Given the description of an element on the screen output the (x, y) to click on. 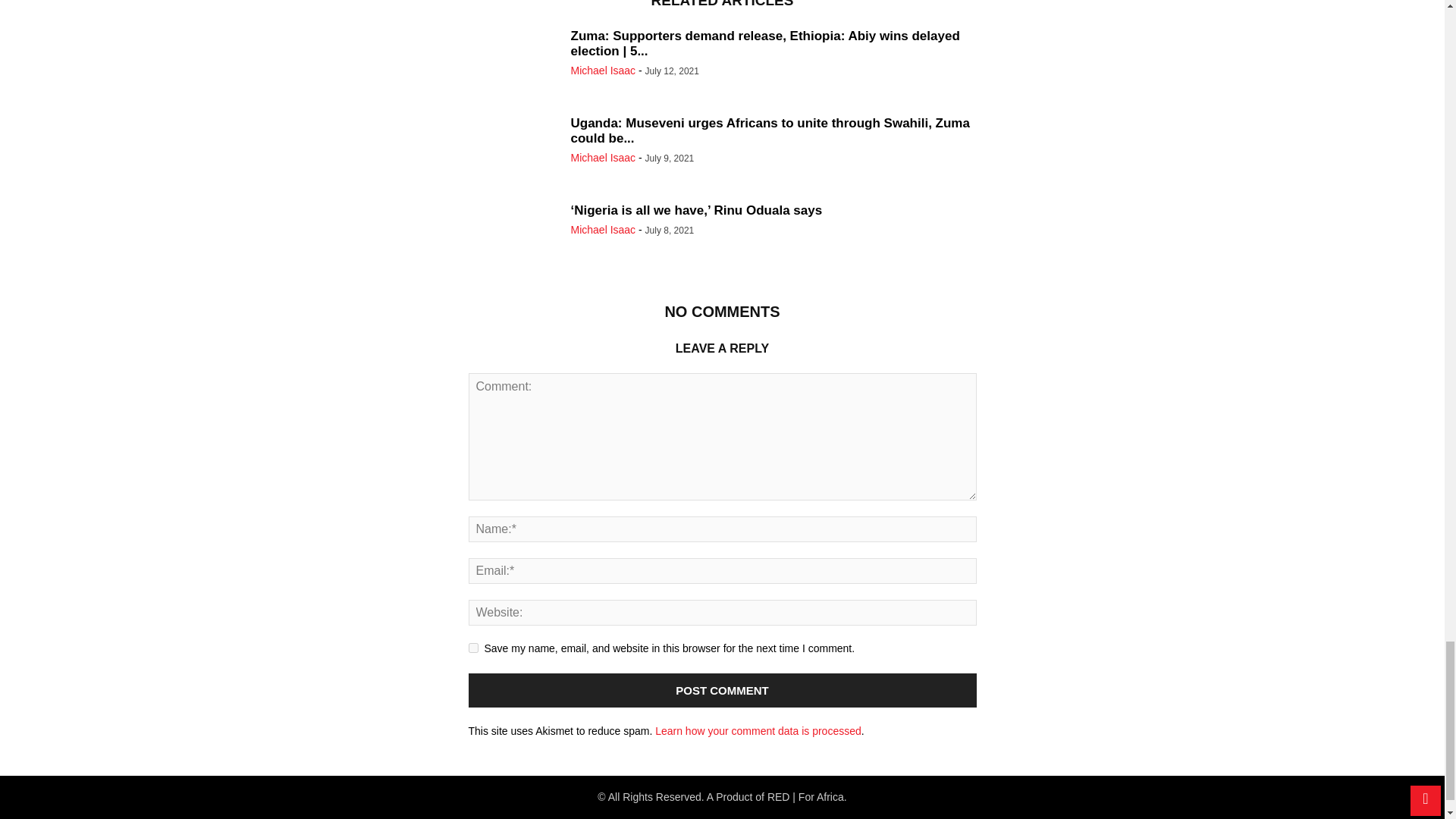
Michael Isaac (602, 157)
Learn how your comment data is processed (758, 730)
Post Comment (722, 690)
yes (473, 647)
Post Comment (722, 690)
Michael Isaac (602, 70)
Michael Isaac (602, 229)
